Given the description of an element on the screen output the (x, y) to click on. 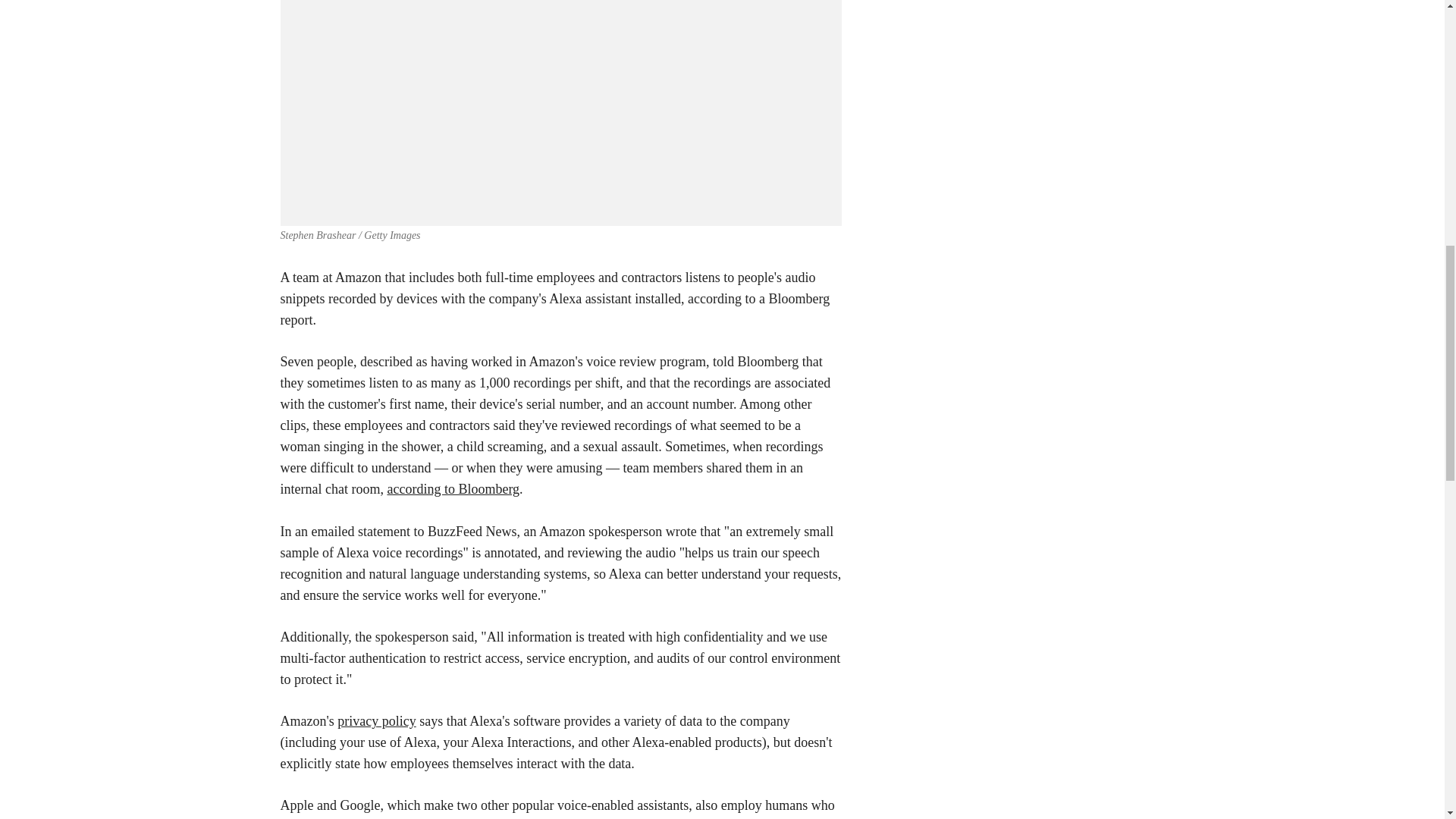
privacy policy (375, 720)
according to Bloomberg (453, 488)
